Given the description of an element on the screen output the (x, y) to click on. 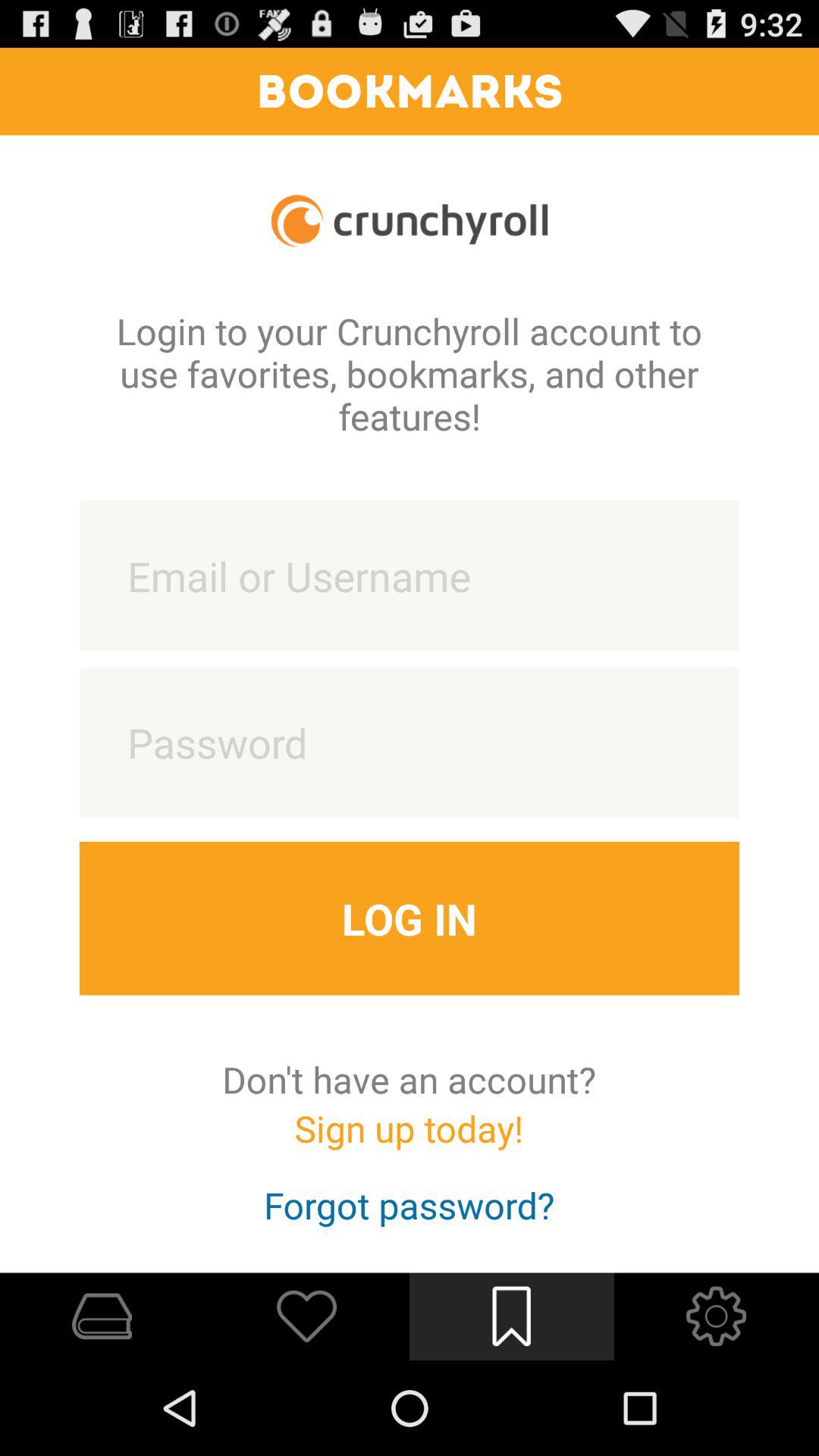
enter email or username (409, 575)
